Given the description of an element on the screen output the (x, y) to click on. 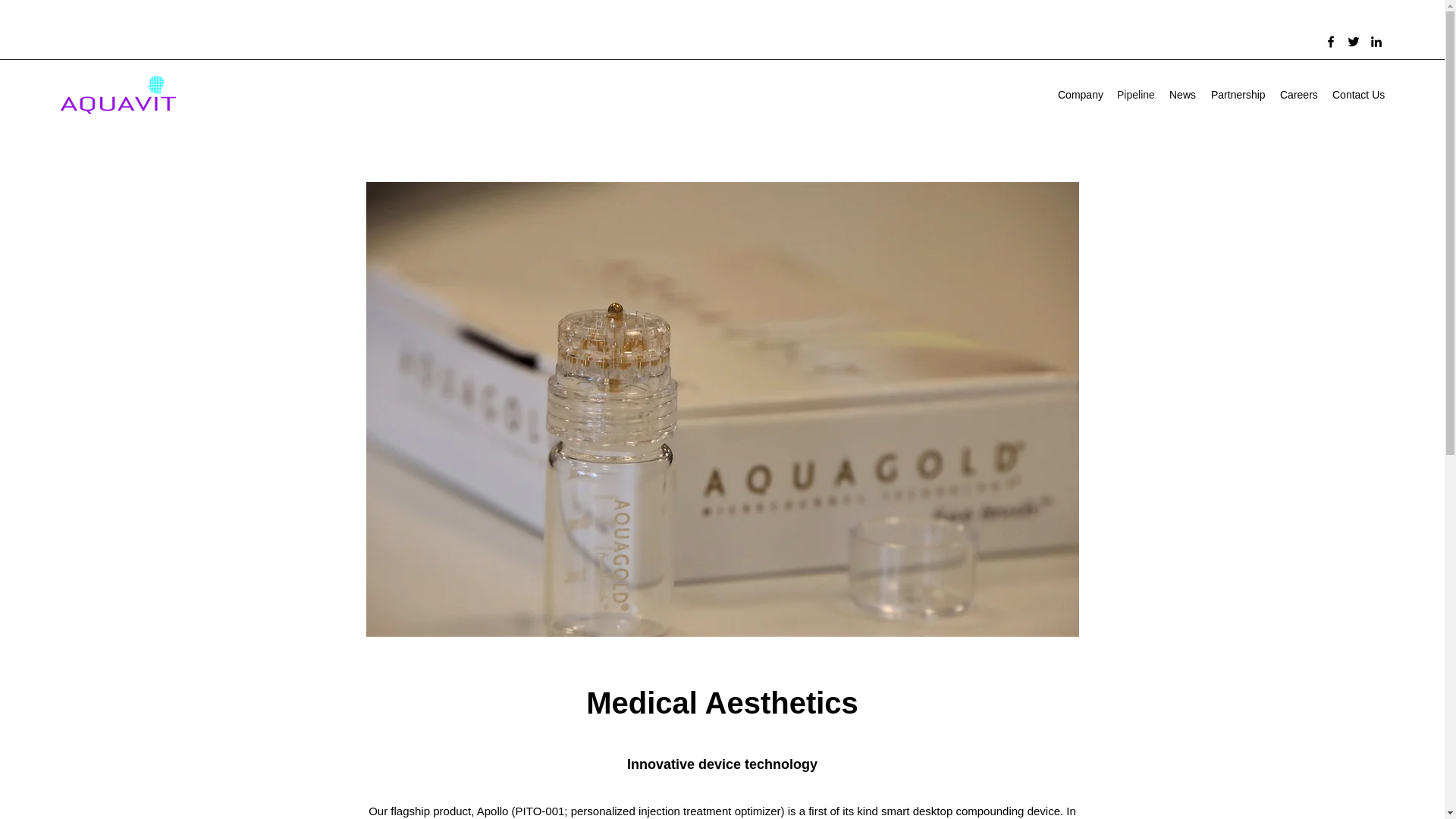
News (1182, 94)
Contact Us (1357, 94)
Careers (1298, 94)
Company (1079, 94)
Pipeline (1135, 94)
Partnership (1238, 94)
